Given the description of an element on the screen output the (x, y) to click on. 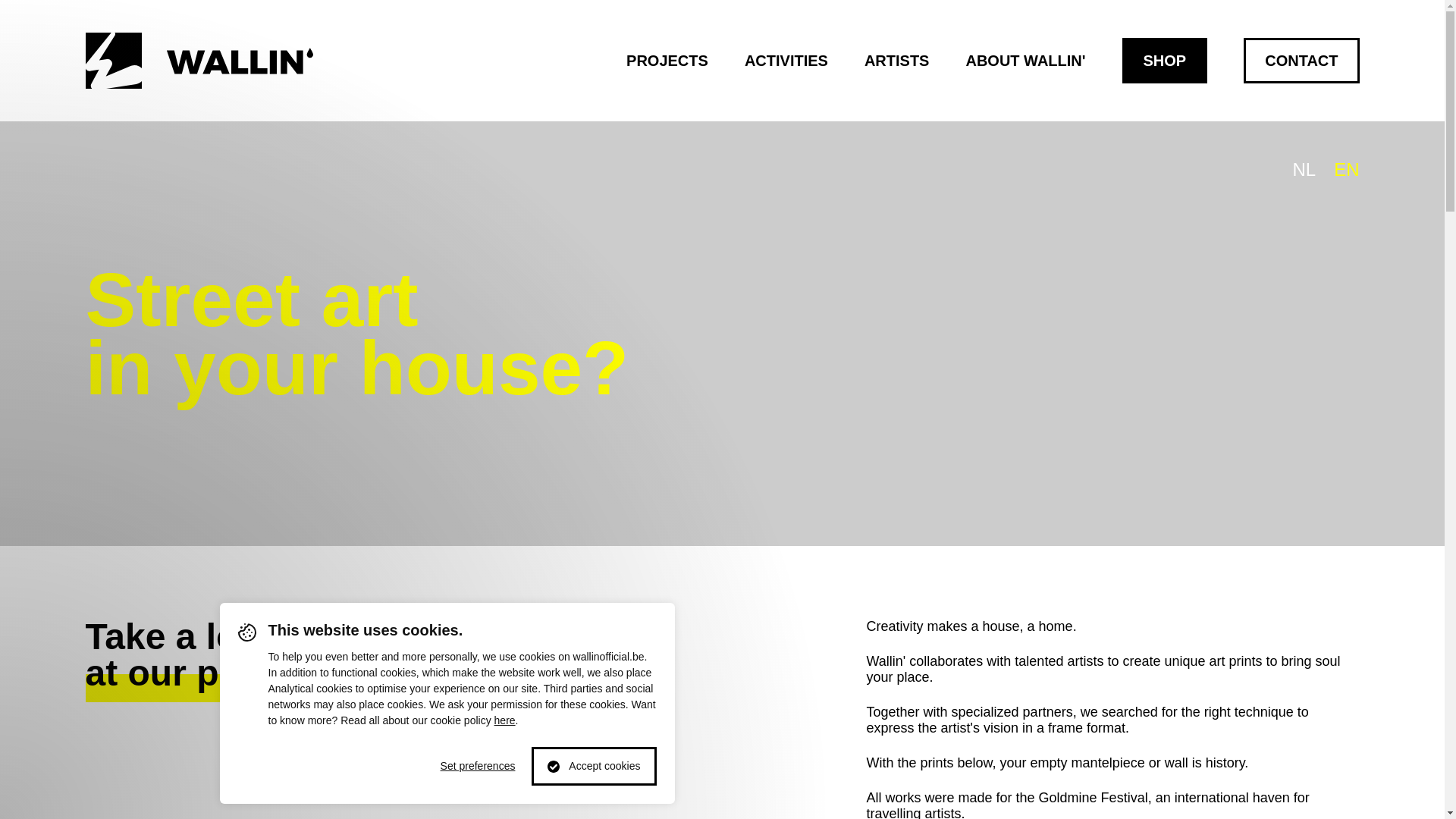
Set preferences (477, 765)
SHOP (1165, 60)
Privacy (505, 720)
PROJECTS (666, 60)
NL (1303, 169)
EN (1346, 169)
ARTISTS (897, 60)
ACTIVITIES (786, 60)
ABOUT WALLIN' (1024, 60)
CONTACT (1300, 60)
